Given the description of an element on the screen output the (x, y) to click on. 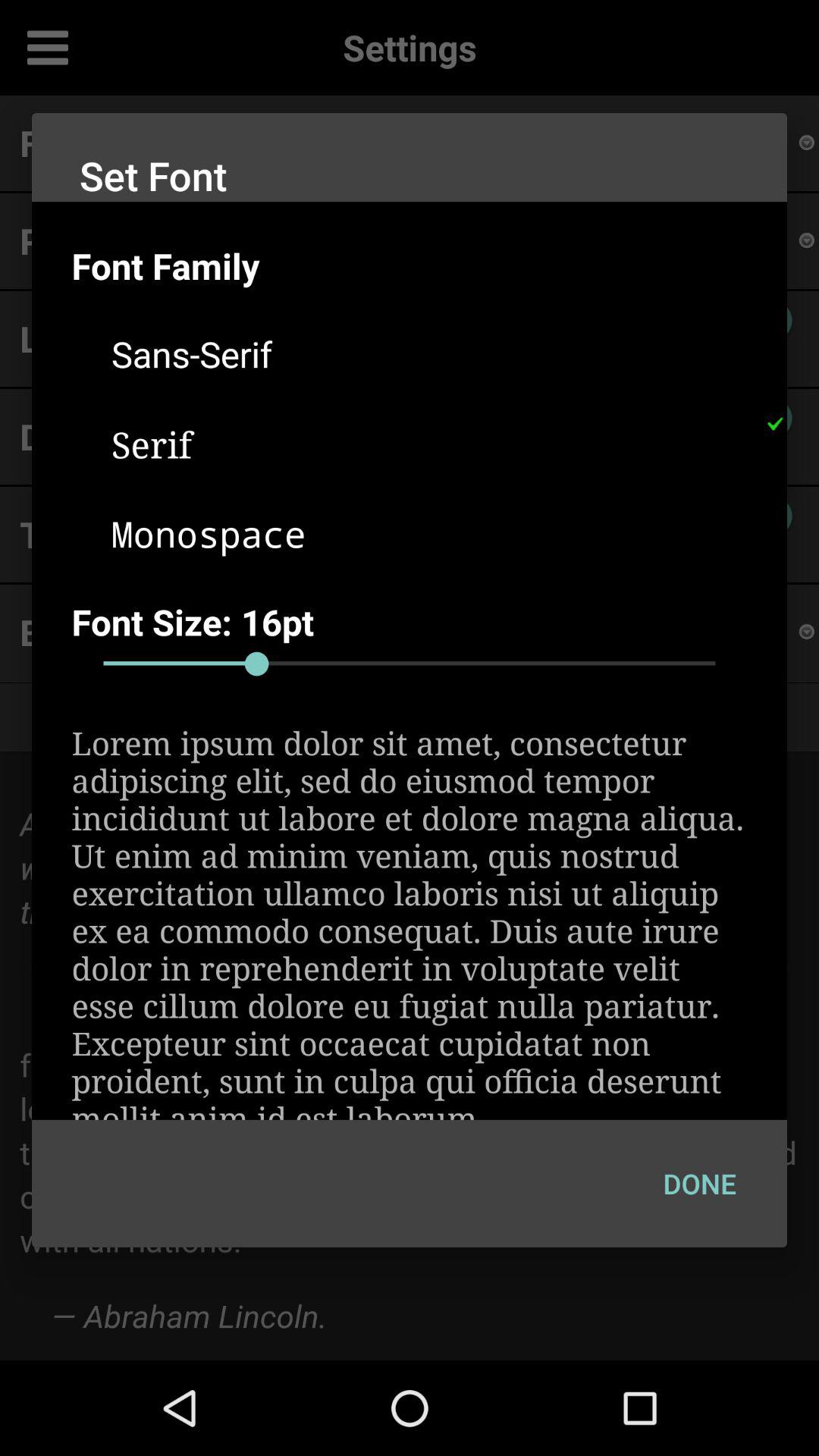
flip until done item (699, 1183)
